Given the description of an element on the screen output the (x, y) to click on. 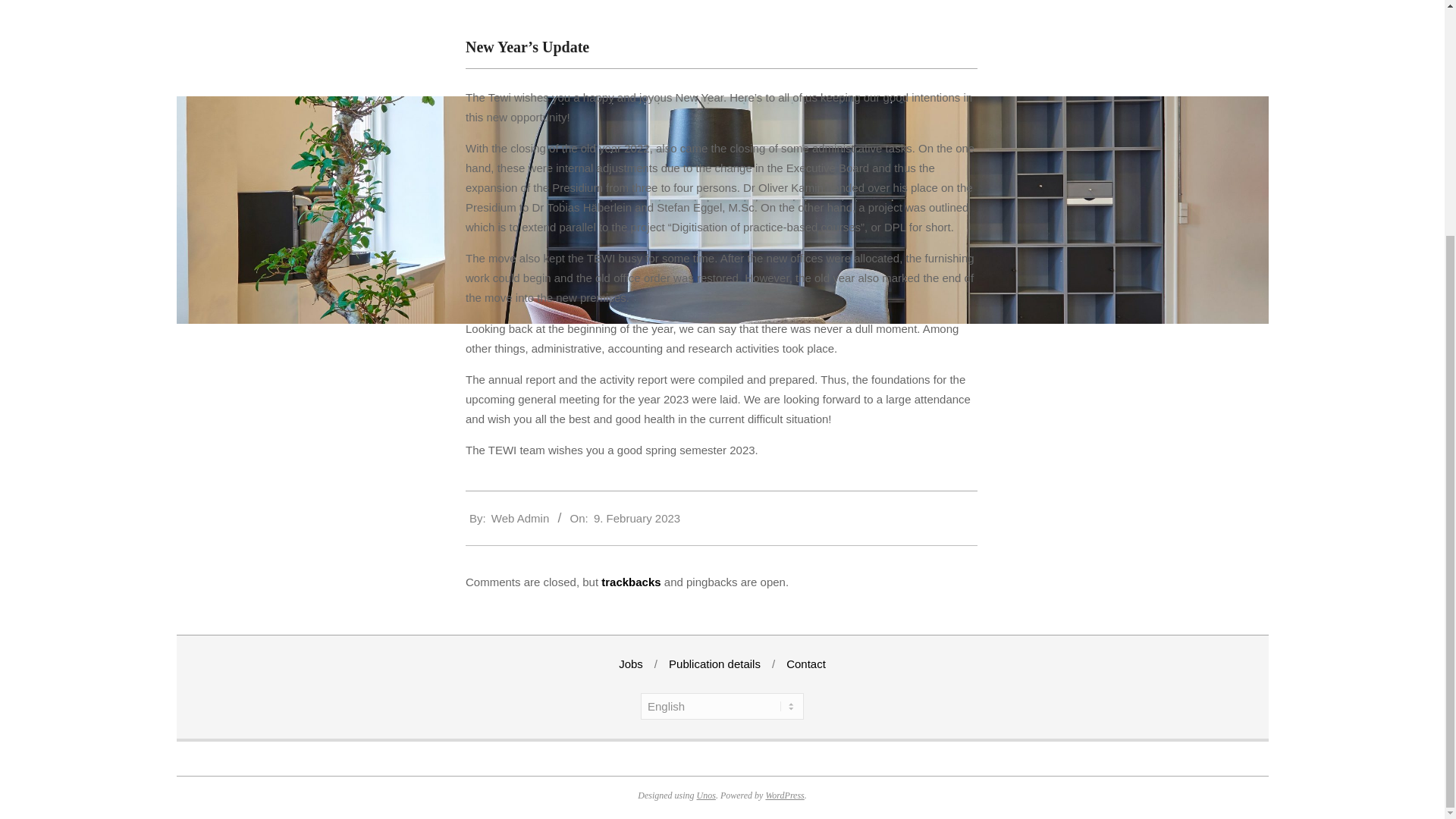
Unos WordPress Theme (706, 795)
Posts by Web Admin (520, 517)
Thursday, February 9, 2023, 10:24 am (636, 517)
